Given the description of an element on the screen output the (x, y) to click on. 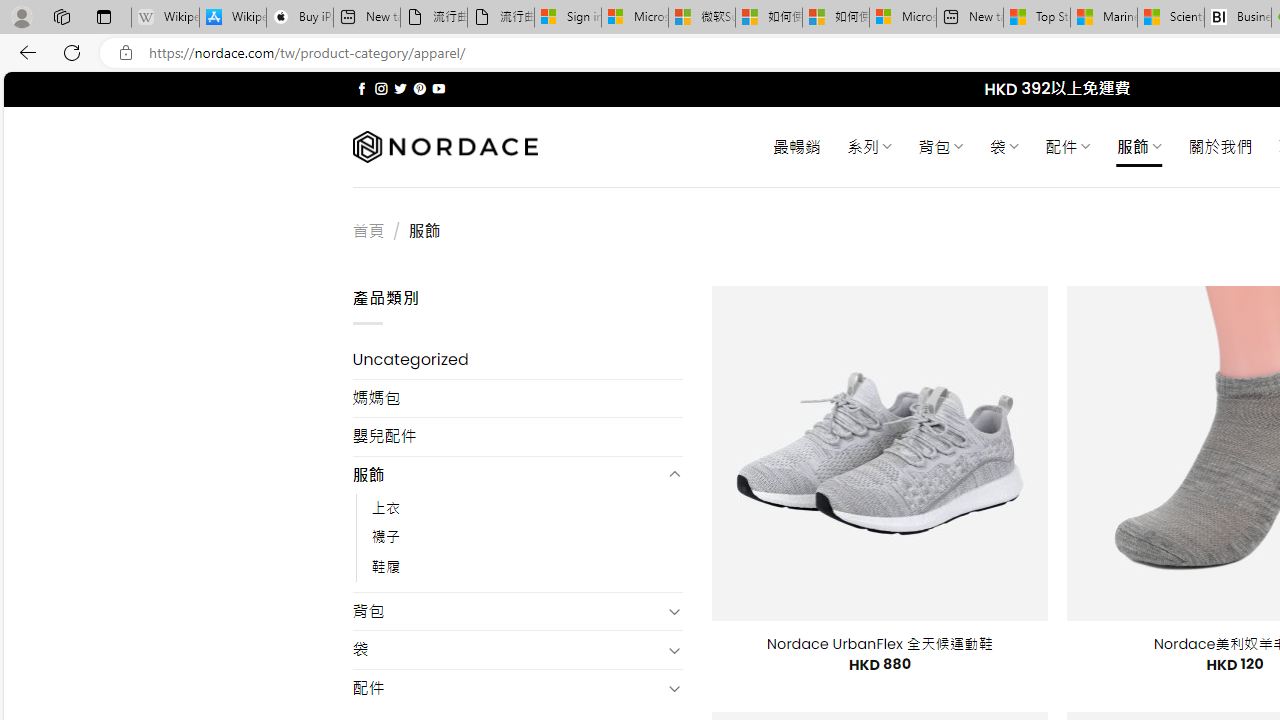
Uncategorized (517, 359)
